Given the description of an element on the screen output the (x, y) to click on. 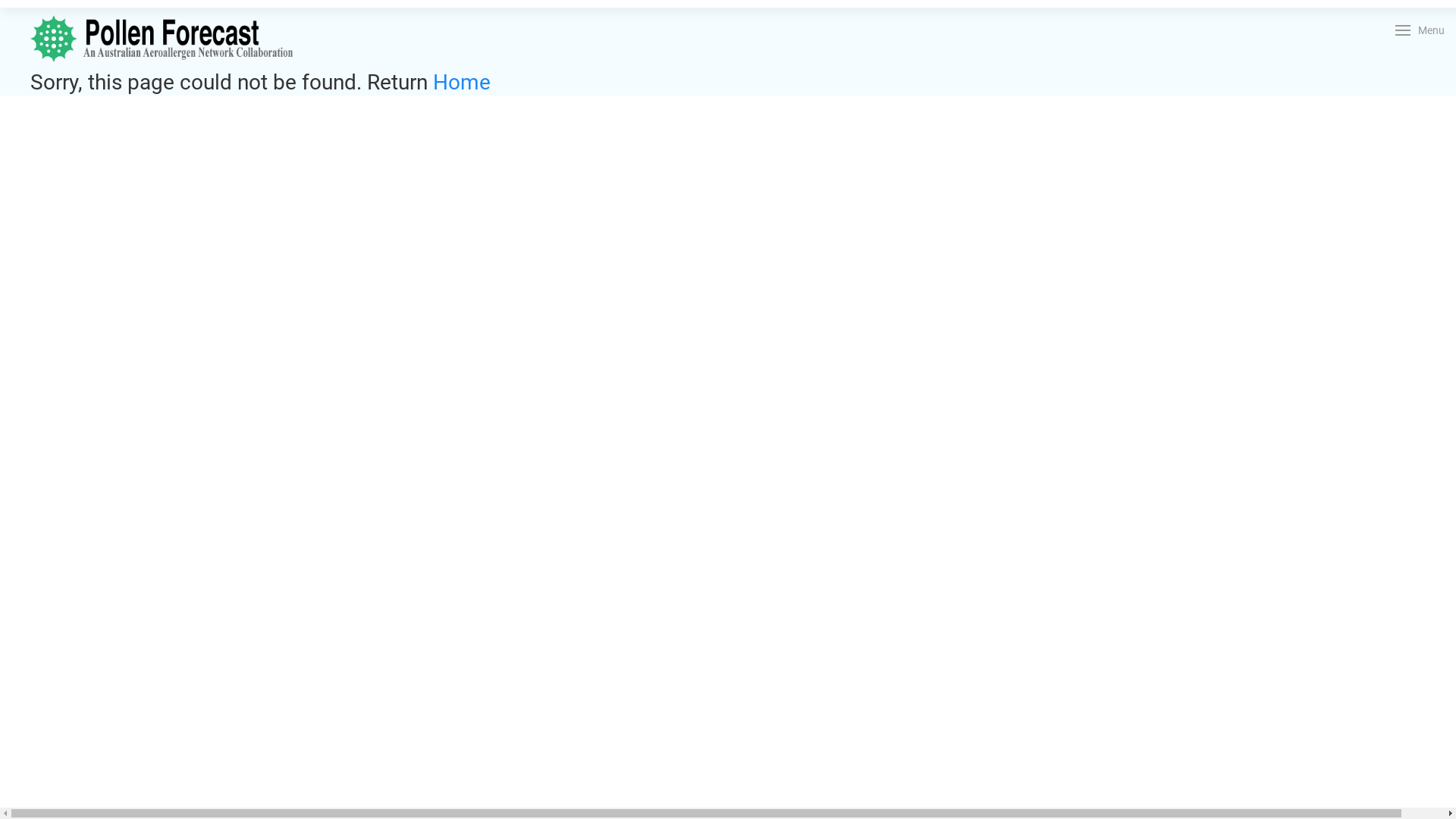
Home Element type: text (461, 81)
